Given the description of an element on the screen output the (x, y) to click on. 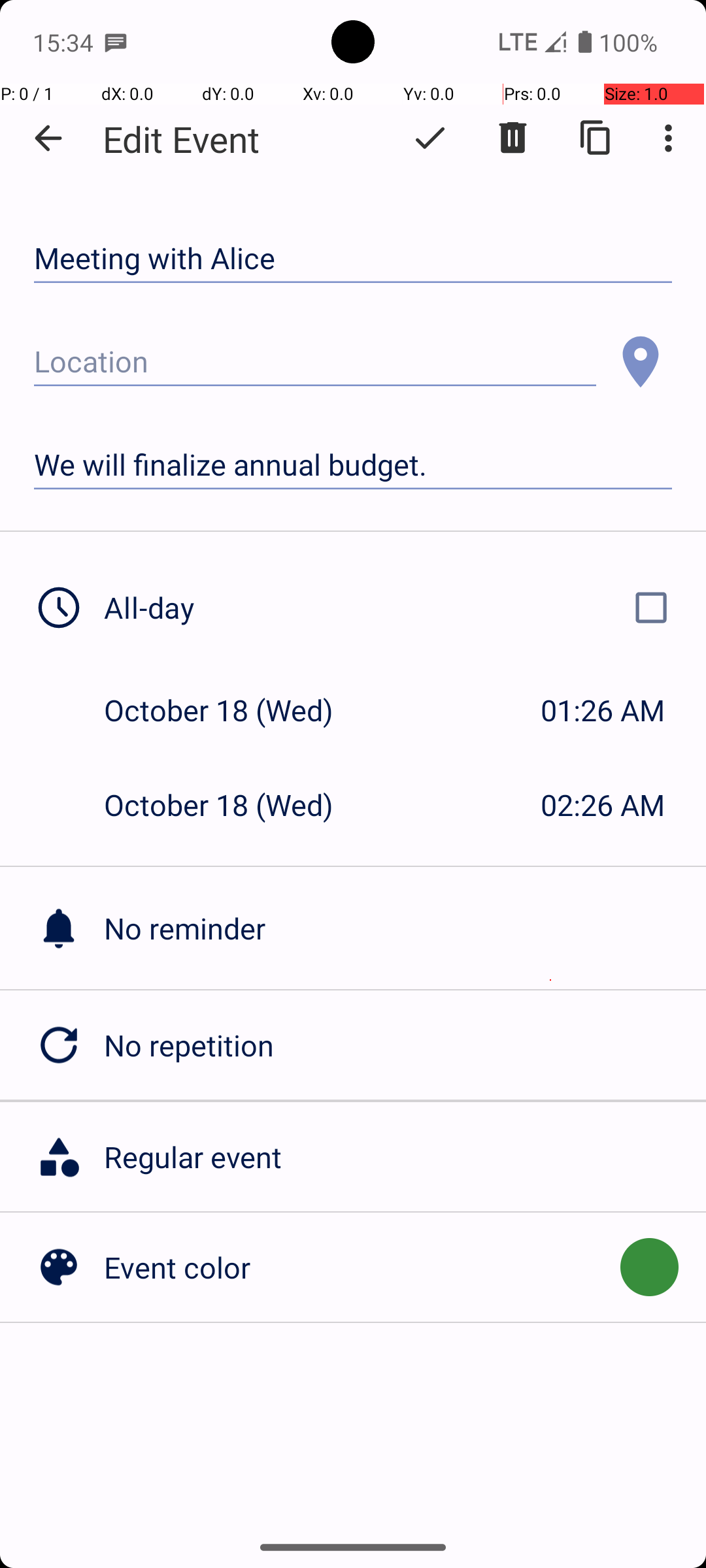
We will finalize annual budget. Element type: android.widget.EditText (352, 465)
October 18 (Wed) Element type: android.widget.TextView (232, 709)
01:26 AM Element type: android.widget.TextView (602, 709)
02:26 AM Element type: android.widget.TextView (602, 804)
